Given the description of an element on the screen output the (x, y) to click on. 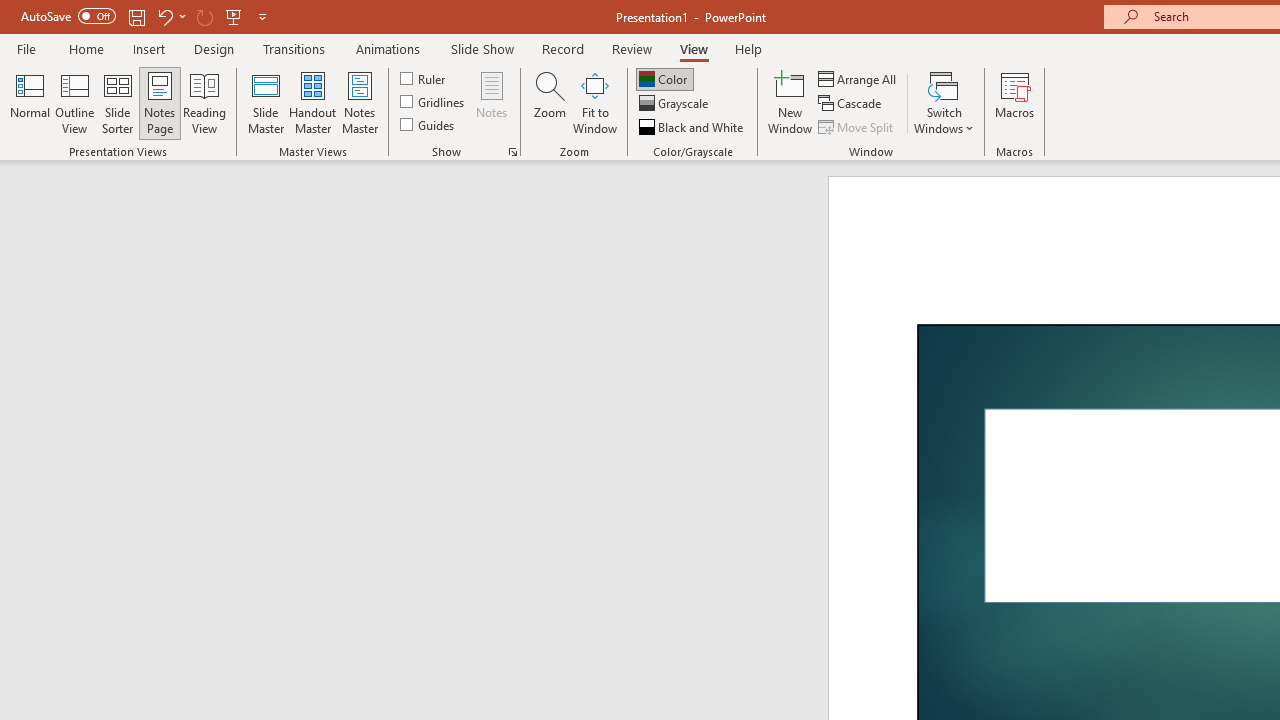
Notes Page (159, 102)
Macros (1014, 102)
Normal (29, 102)
Grayscale (675, 103)
Notes Master (360, 102)
Ruler (423, 78)
View (693, 48)
Quick Access Toolbar (145, 16)
Black and White (693, 126)
File Tab (26, 48)
Arrange All (858, 78)
Cascade (851, 103)
Guides (428, 124)
Record (562, 48)
Notes (492, 102)
